Given the description of an element on the screen output the (x, y) to click on. 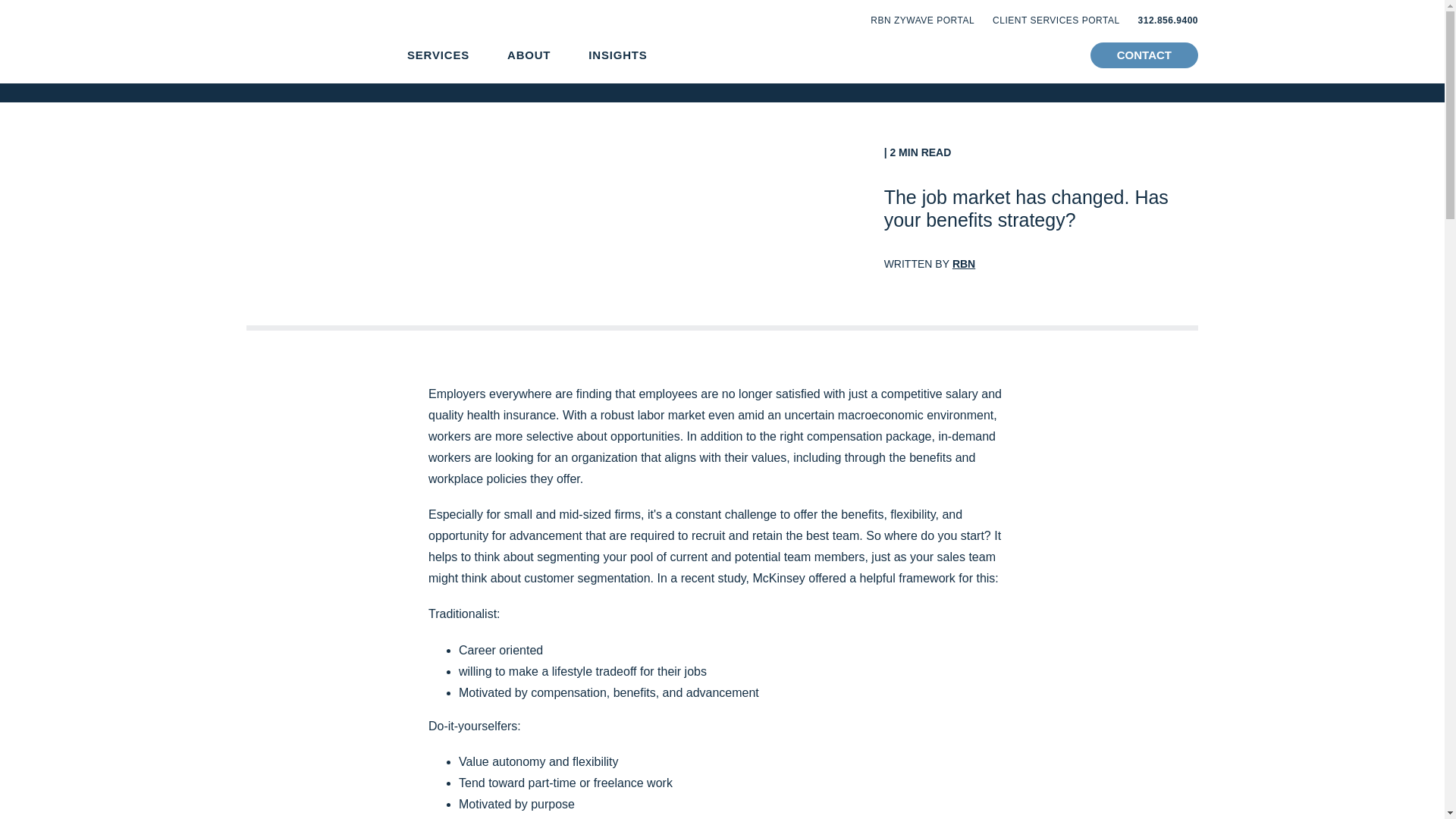
312.856.9400 (1168, 20)
RBN (963, 263)
SERVICES (437, 55)
CONTACT (1144, 54)
CLIENT SERVICES PORTAL (1055, 20)
ABOUT (528, 55)
RBN ZYWAVE PORTAL (922, 20)
INSIGHTS (617, 55)
